Given the description of an element on the screen output the (x, y) to click on. 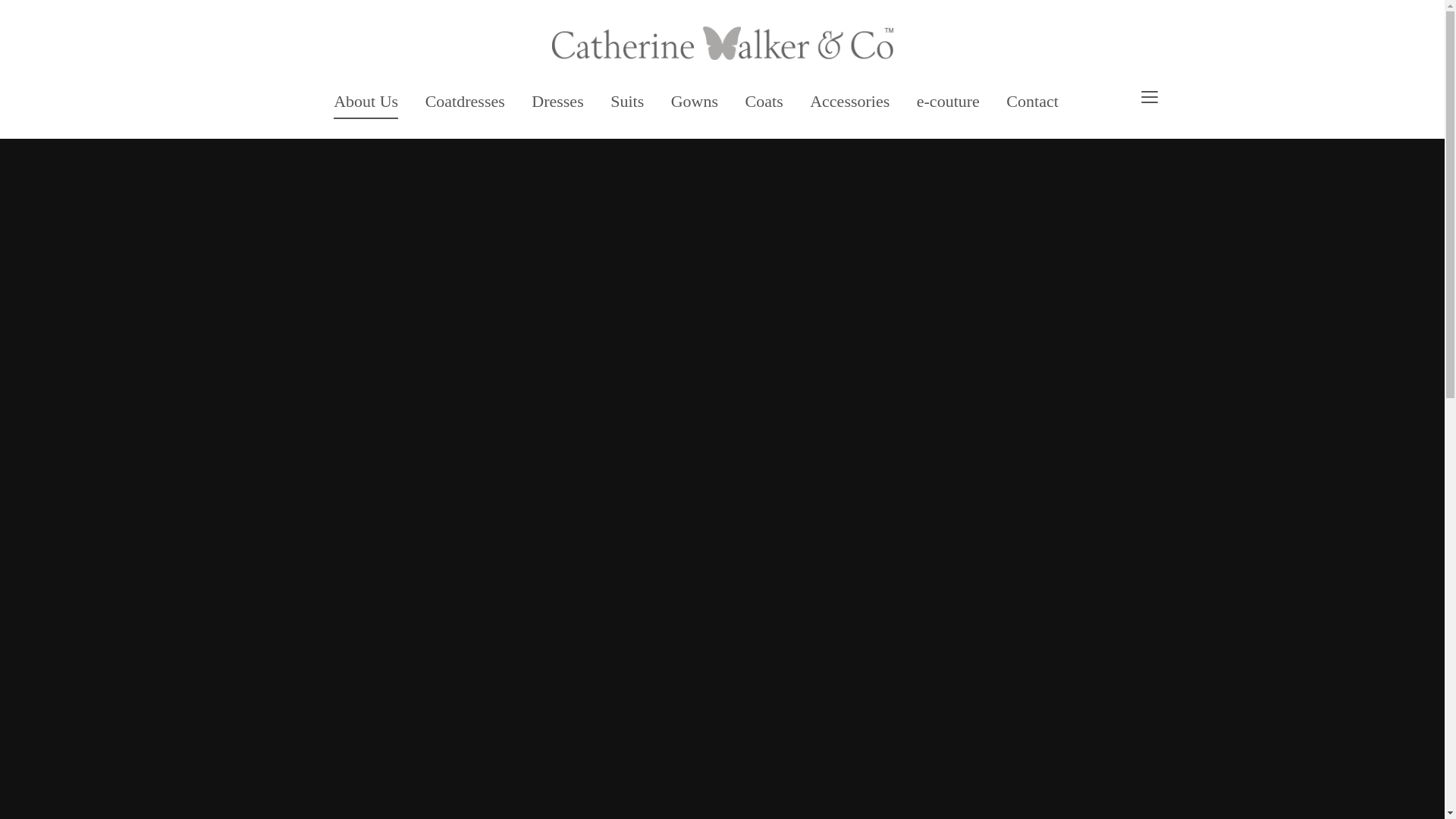
Contact (1032, 100)
e-couture (948, 100)
Coats (764, 100)
Suits (626, 100)
now and since 1977 (722, 42)
About Us (365, 100)
Dresses (557, 100)
Accessories (849, 100)
Coatdresses (465, 100)
Gowns (694, 100)
